Given the description of an element on the screen output the (x, y) to click on. 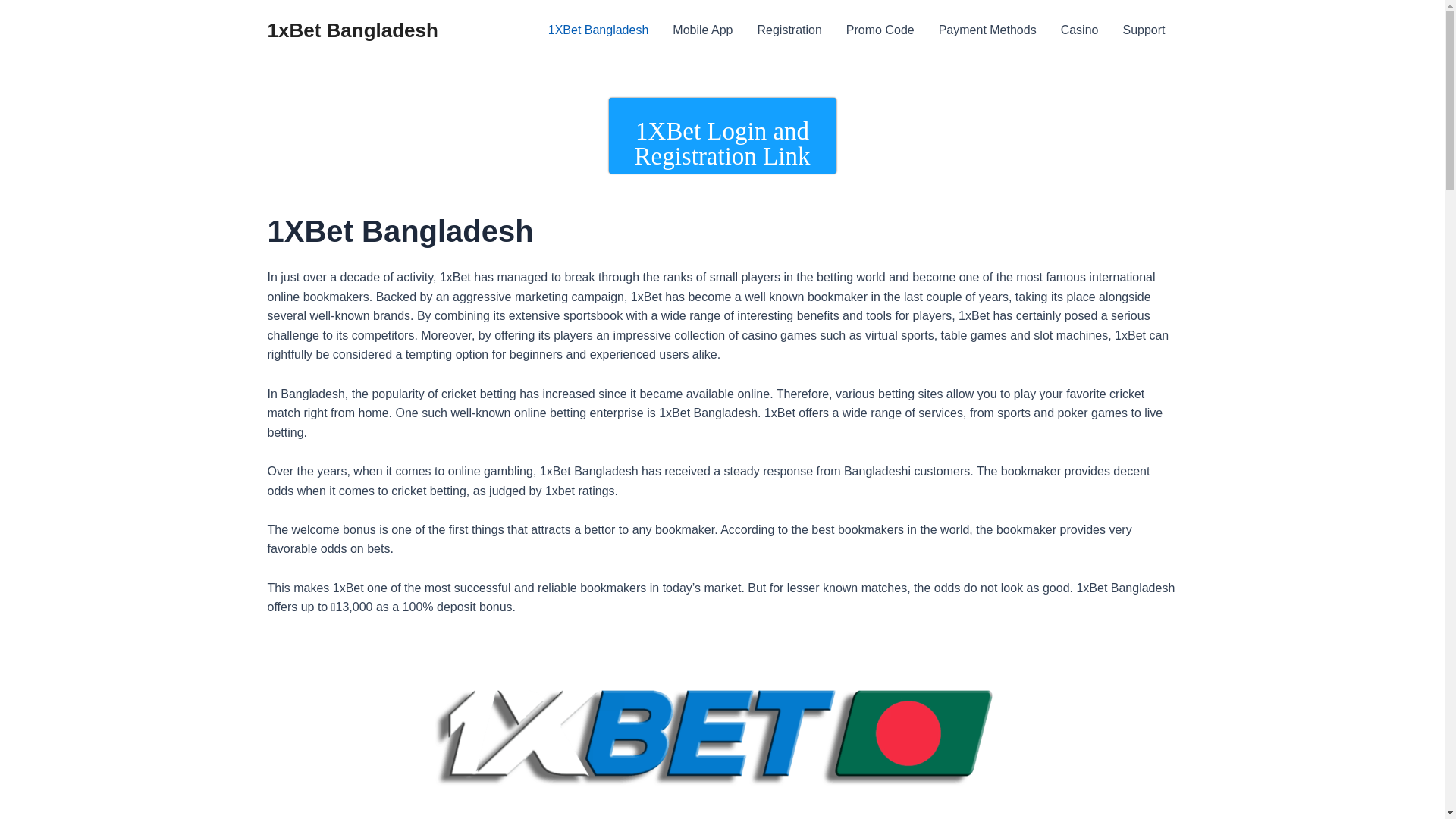
Mobile App Element type: text (702, 30)
Casino Element type: text (1079, 30)
1XBet Bangladesh Element type: text (598, 30)
Support Element type: text (1143, 30)
1XBet Login and Registration Link Element type: text (721, 135)
Registration Element type: text (788, 30)
Payment Methods Element type: text (987, 30)
1xBet Bangladesh Element type: text (351, 29)
Promo Code Element type: text (880, 30)
